Given the description of an element on the screen output the (x, y) to click on. 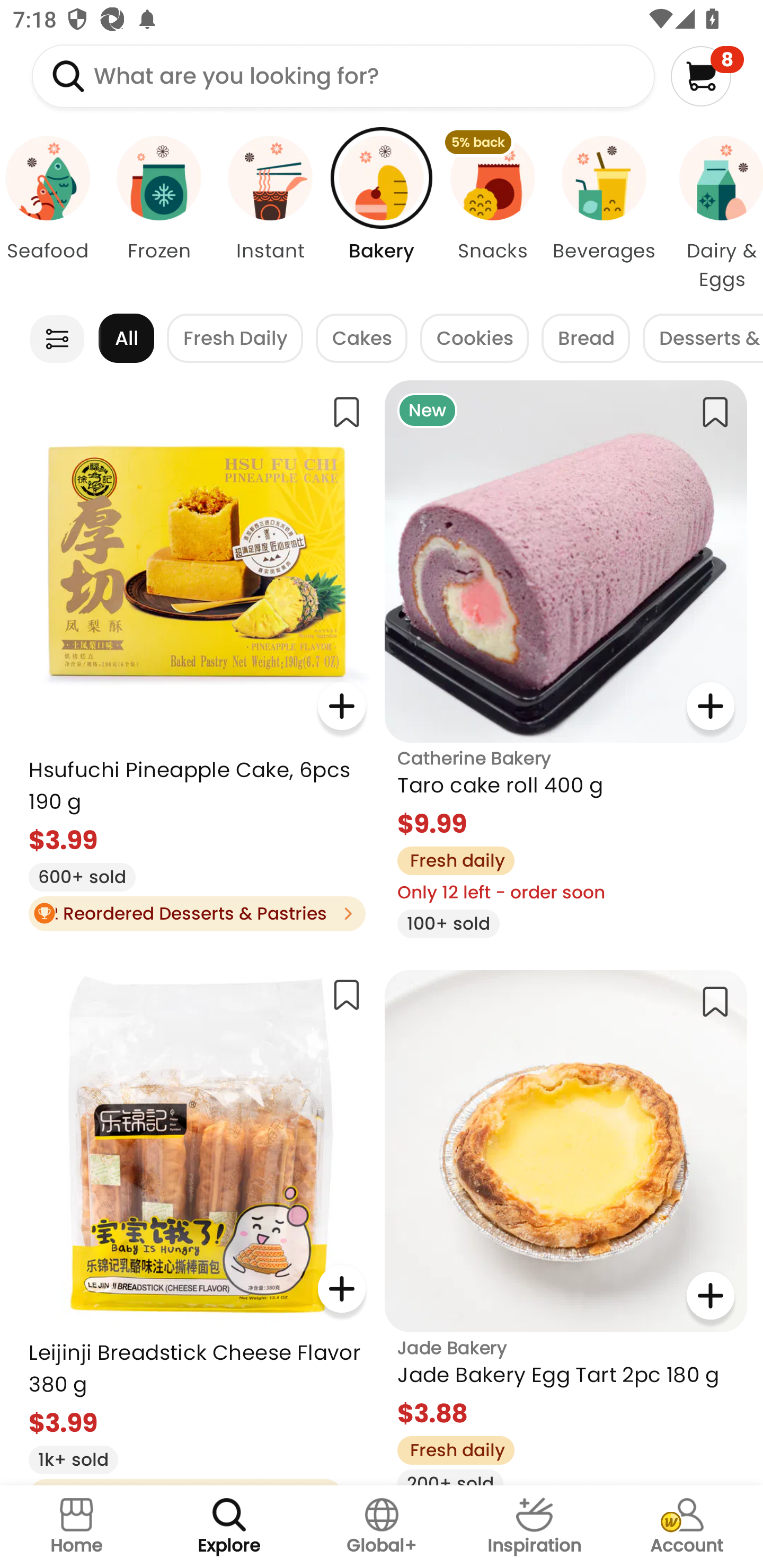
What are you looking for? (343, 75)
8 (706, 75)
Seafood (51, 214)
Frozen (158, 214)
Instant (269, 214)
Bakery (381, 214)
5% back Snacks (492, 214)
Beverages (603, 214)
Dairy & Eggs (711, 214)
All (126, 337)
Fresh Daily (234, 337)
Cakes (361, 337)
Cookies (474, 337)
Bread (585, 337)
Desserts & Pastries (702, 337)
